Given the description of an element on the screen output the (x, y) to click on. 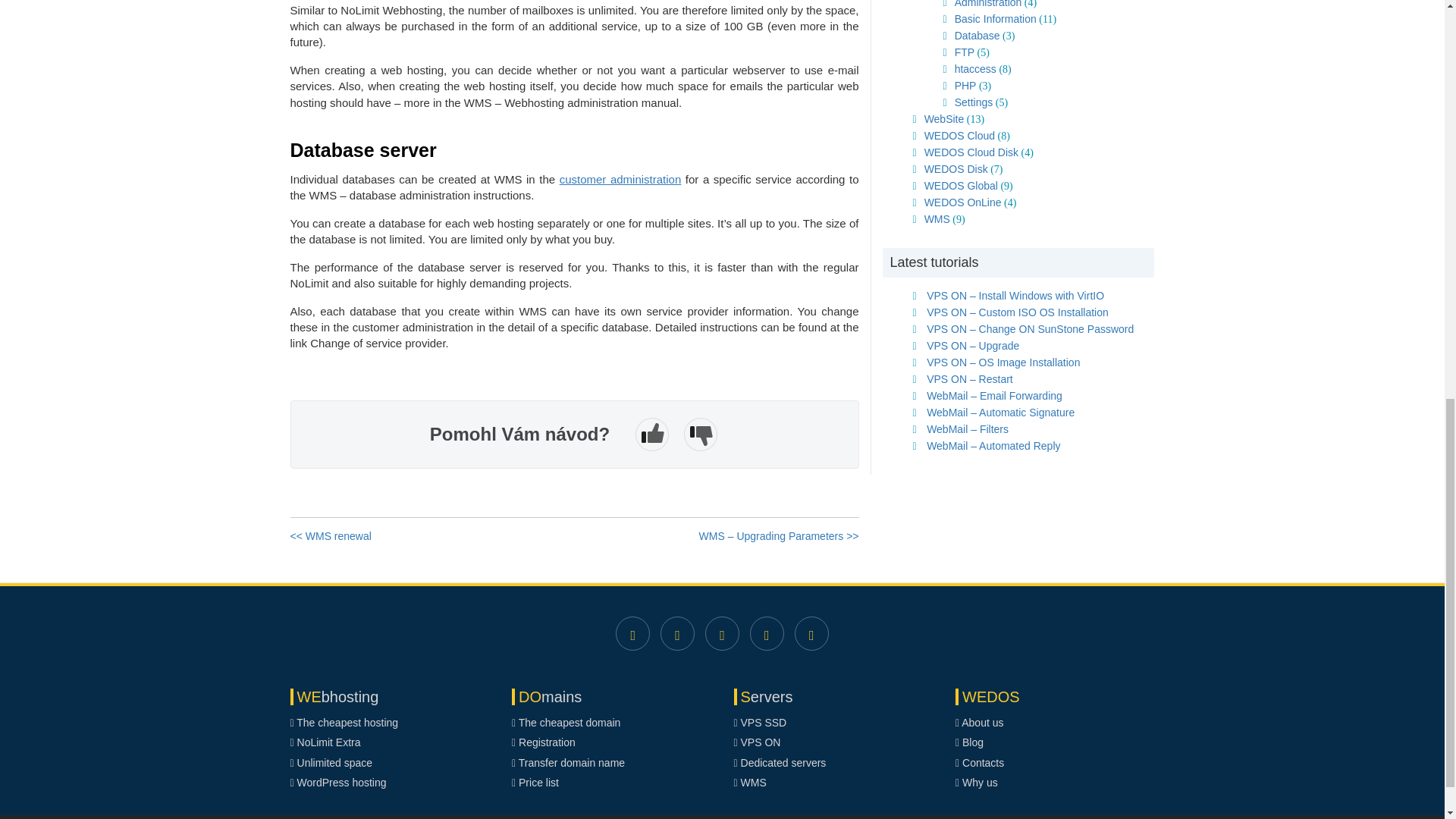
facebook page (632, 633)
youtube page (766, 633)
subscribe (721, 633)
The newest tutorials RSS (811, 633)
customer administration (620, 178)
Database server (574, 142)
twitter page (677, 633)
